Given the description of an element on the screen output the (x, y) to click on. 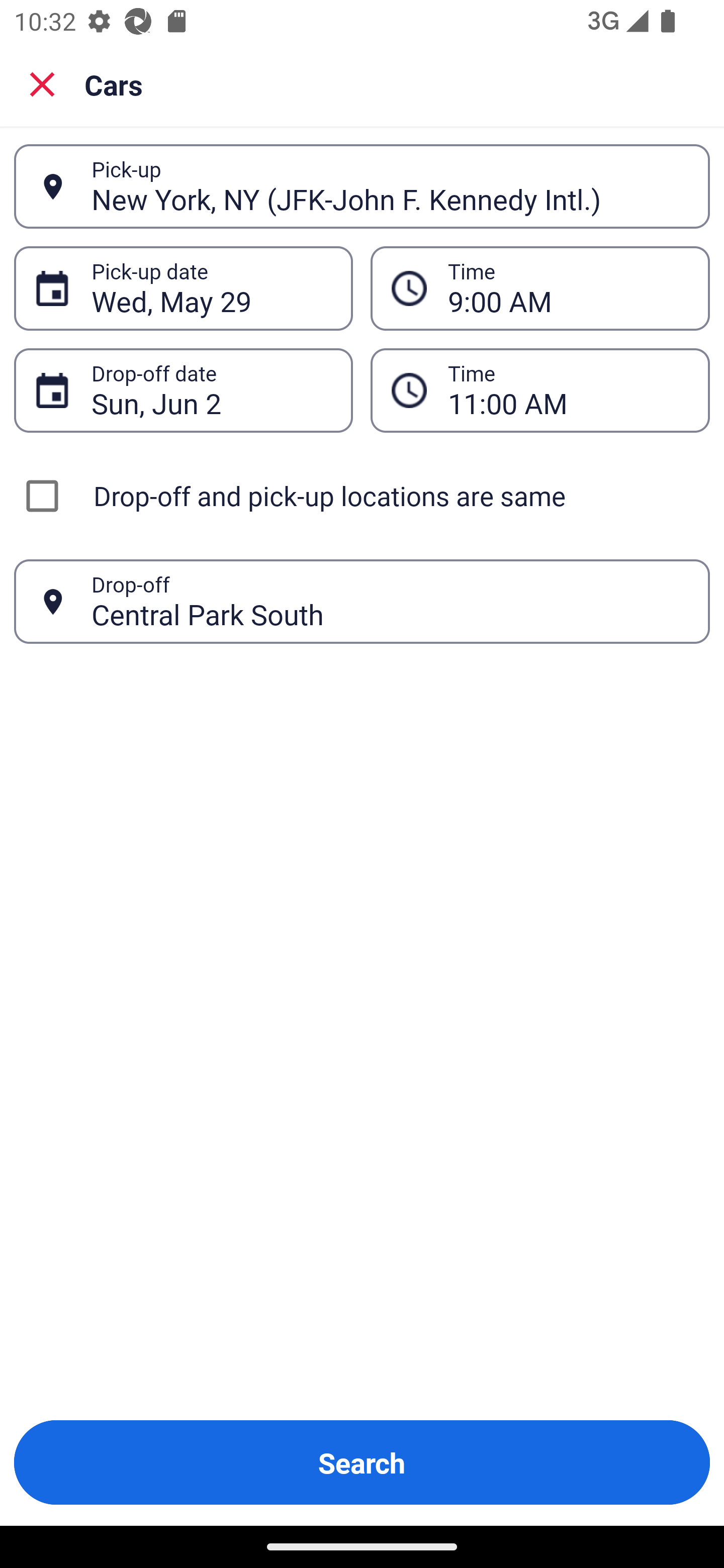
Close search screen (41, 83)
New York, NY (JFK-John F. Kennedy Intl.) Pick-up (361, 186)
New York, NY (JFK-John F. Kennedy Intl.) (389, 186)
Wed, May 29 Pick-up date (183, 288)
9:00 AM (540, 288)
Wed, May 29 (211, 288)
9:00 AM (568, 288)
Sun, Jun 2 Drop-off date (183, 390)
11:00 AM (540, 390)
Sun, Jun 2 (211, 390)
11:00 AM (568, 390)
Drop-off and pick-up locations are same (361, 495)
Central Park South Drop-off (361, 601)
Central Park South (389, 601)
Search Button Search (361, 1462)
